Given the description of an element on the screen output the (x, y) to click on. 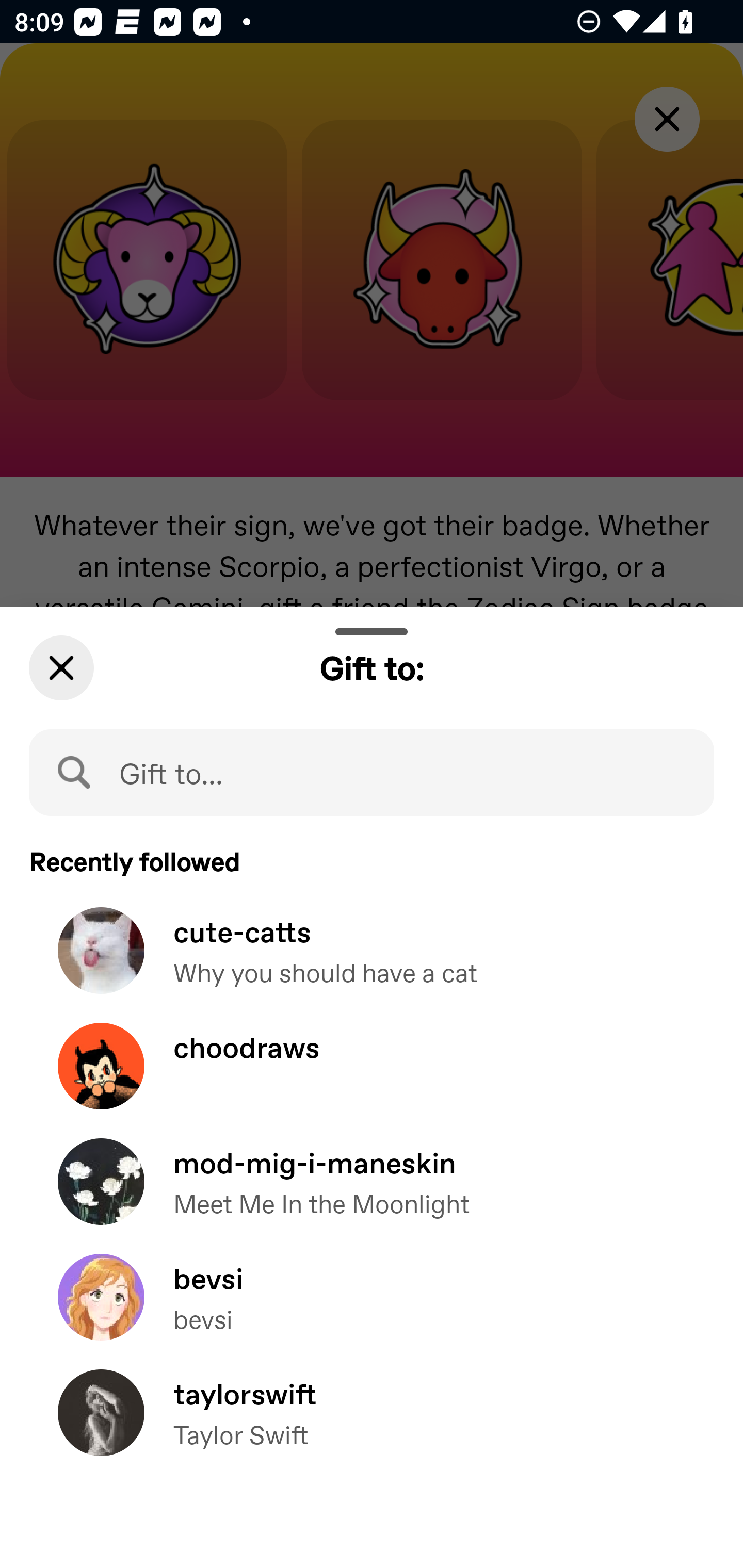
Gift to... (371, 772)
cute-catts Why you should have a cat (371, 964)
choodraws (371, 1080)
mod-mig-i-maneskin Meet Me In the Moonlight (371, 1196)
bevsi (371, 1311)
taylorswift Taylor Swift (371, 1426)
